Given the description of an element on the screen output the (x, y) to click on. 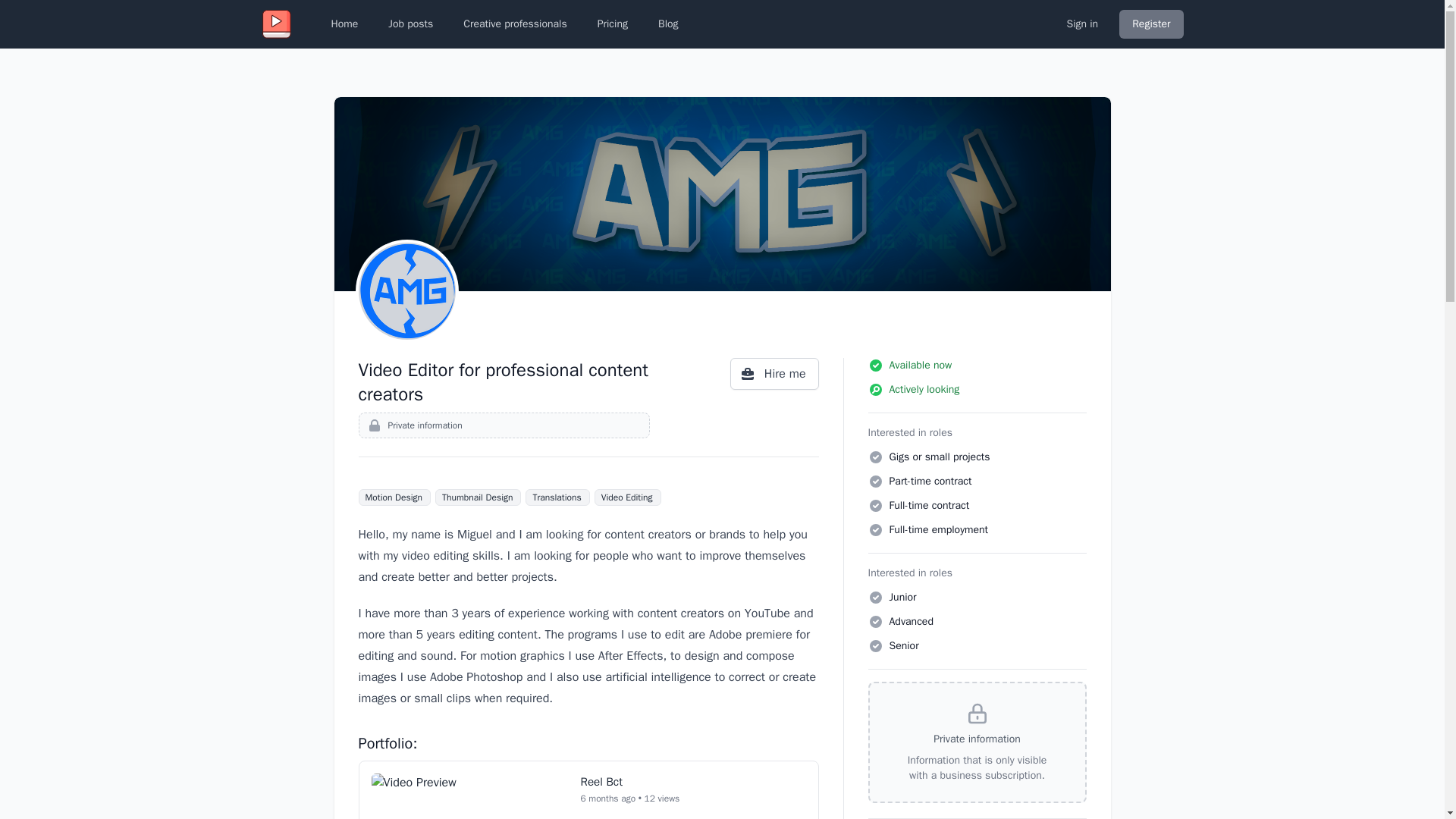
Check Circle (874, 365)
Pricing (612, 23)
Sign in (1081, 23)
Creative professionals (514, 23)
Home (343, 23)
Check Circle (874, 621)
Check Circle (874, 505)
Job posts (410, 23)
Check Circle (874, 529)
01:31 (468, 796)
Private information (503, 425)
Hire me (774, 373)
Check Circle (874, 645)
YT.Careers (275, 24)
